Given the description of an element on the screen output the (x, y) to click on. 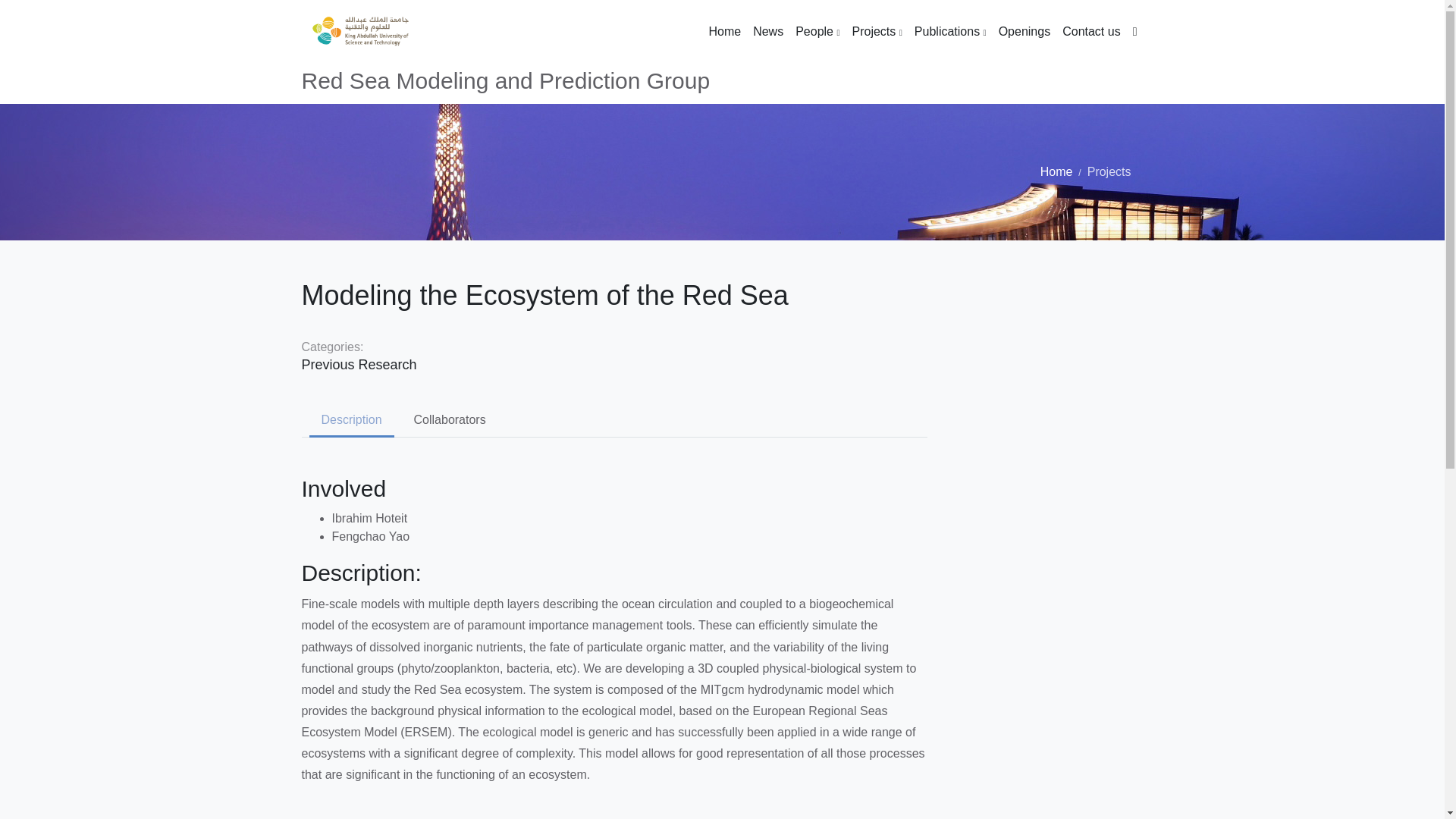
Publications (950, 31)
News (767, 31)
People (817, 31)
Home (723, 31)
Contact us (1091, 31)
Projects (1109, 171)
Projects (876, 31)
Home (1057, 171)
Description (351, 420)
Openings (1024, 31)
Collaborators (449, 420)
